Given the description of an element on the screen output the (x, y) to click on. 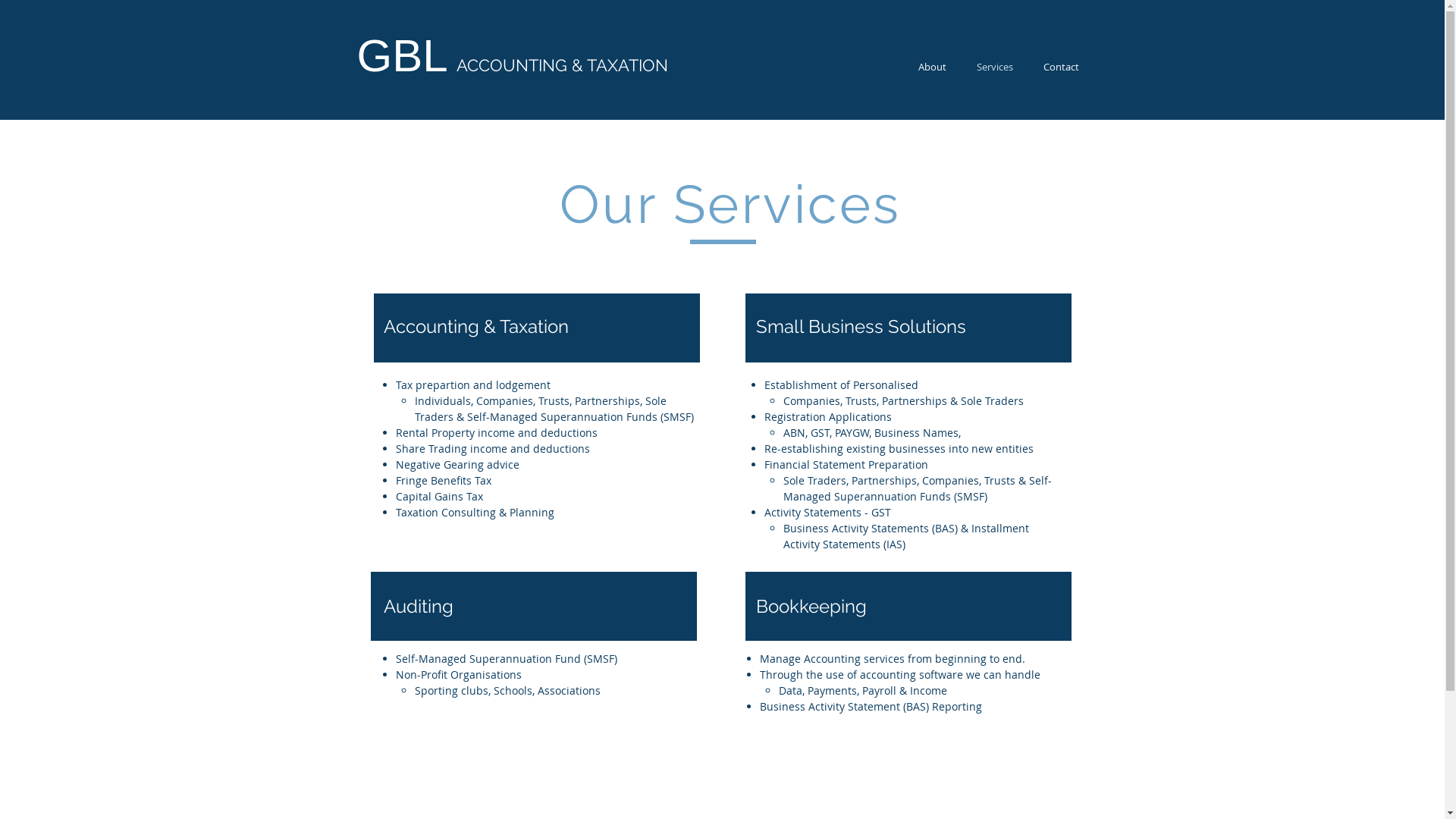
Services Element type: text (994, 66)
Contact Element type: text (1061, 66)
GBL  ACCOUNTING & TAXATION Element type: text (511, 65)
About Element type: text (931, 66)
